Given the description of an element on the screen output the (x, y) to click on. 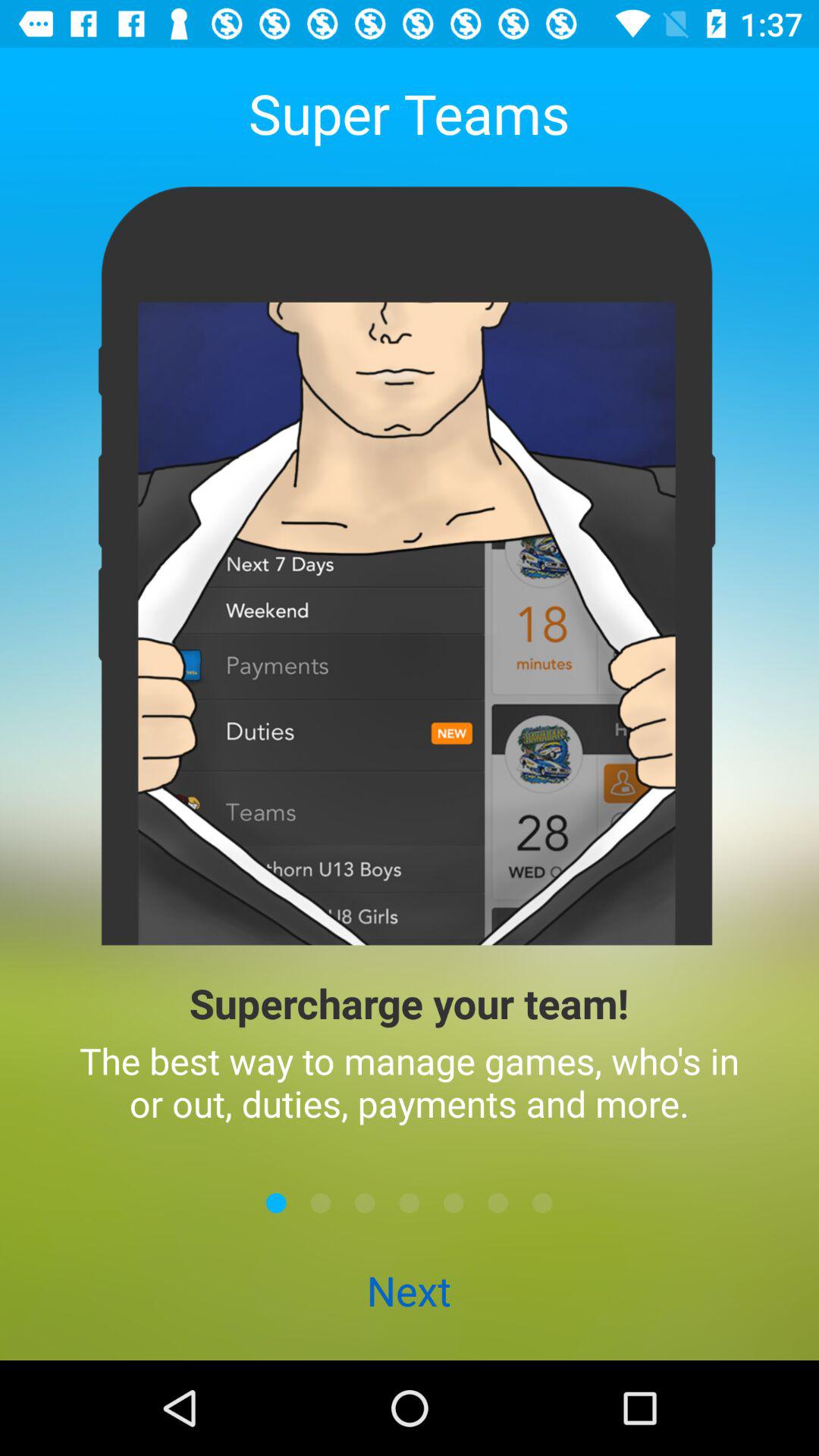
next scren (409, 1203)
